Given the description of an element on the screen output the (x, y) to click on. 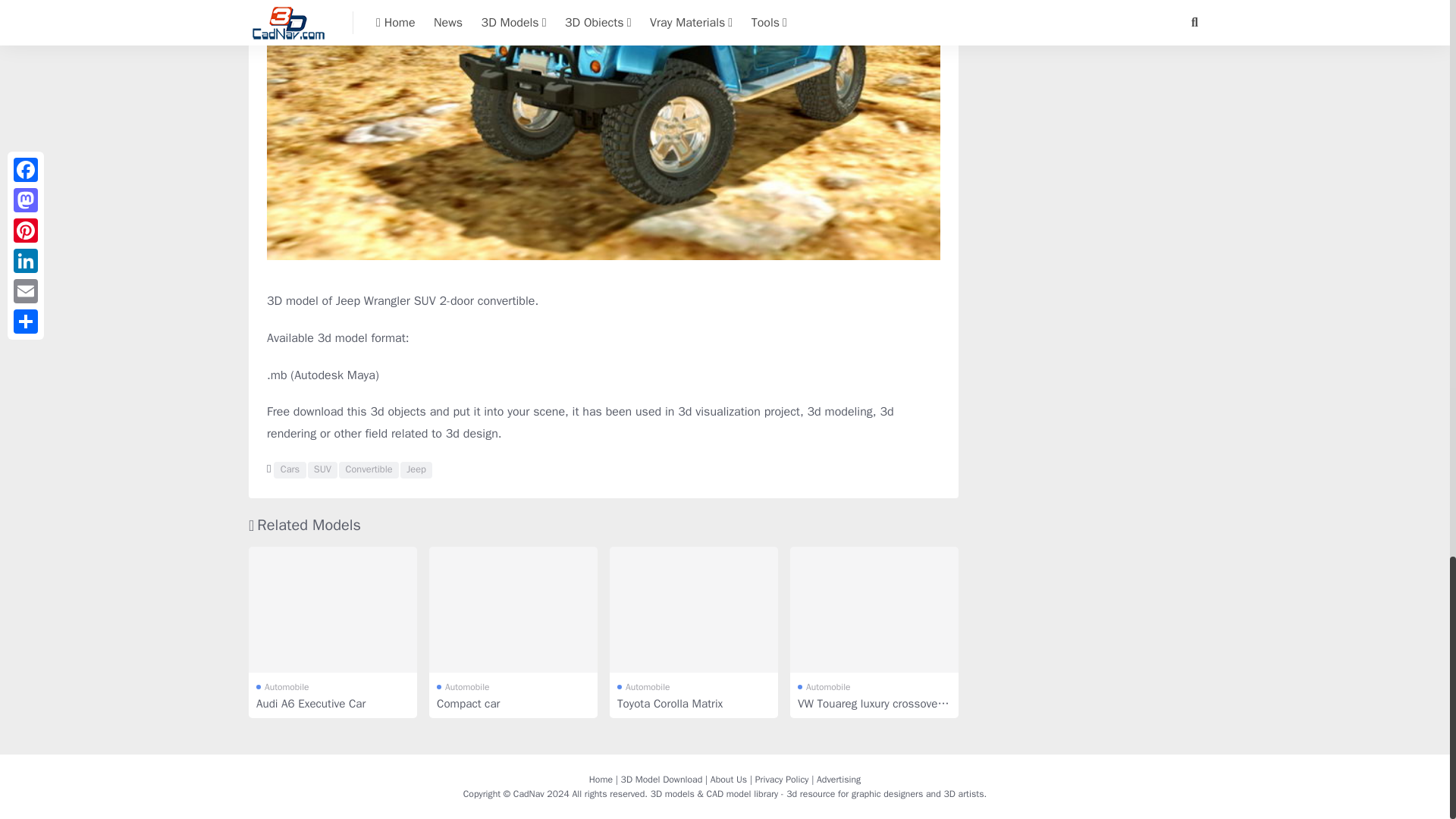
Toyota Corolla Matrix 3d model download (693, 610)
Audi A6 Executive Car 3d model download (332, 610)
Cars 3d model (289, 469)
Convertible 3d model (368, 469)
SUV 3d model (322, 469)
VW Touareg luxury crossover SUV 3d model download (874, 610)
Compact car 3d model download (512, 610)
Jeep 3d model (416, 469)
